Given the description of an element on the screen output the (x, y) to click on. 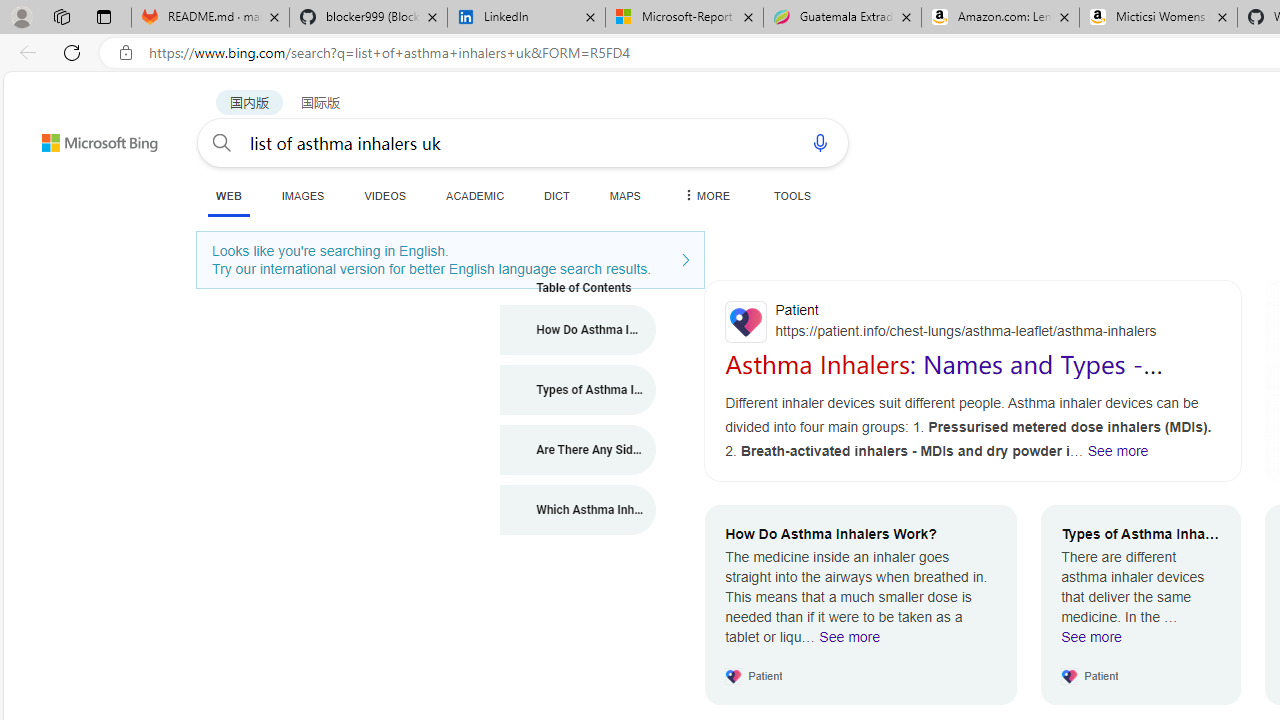
MORE (705, 195)
Types of Asthma Inhalers (578, 389)
MAPS (624, 195)
